Given the description of an element on the screen output the (x, y) to click on. 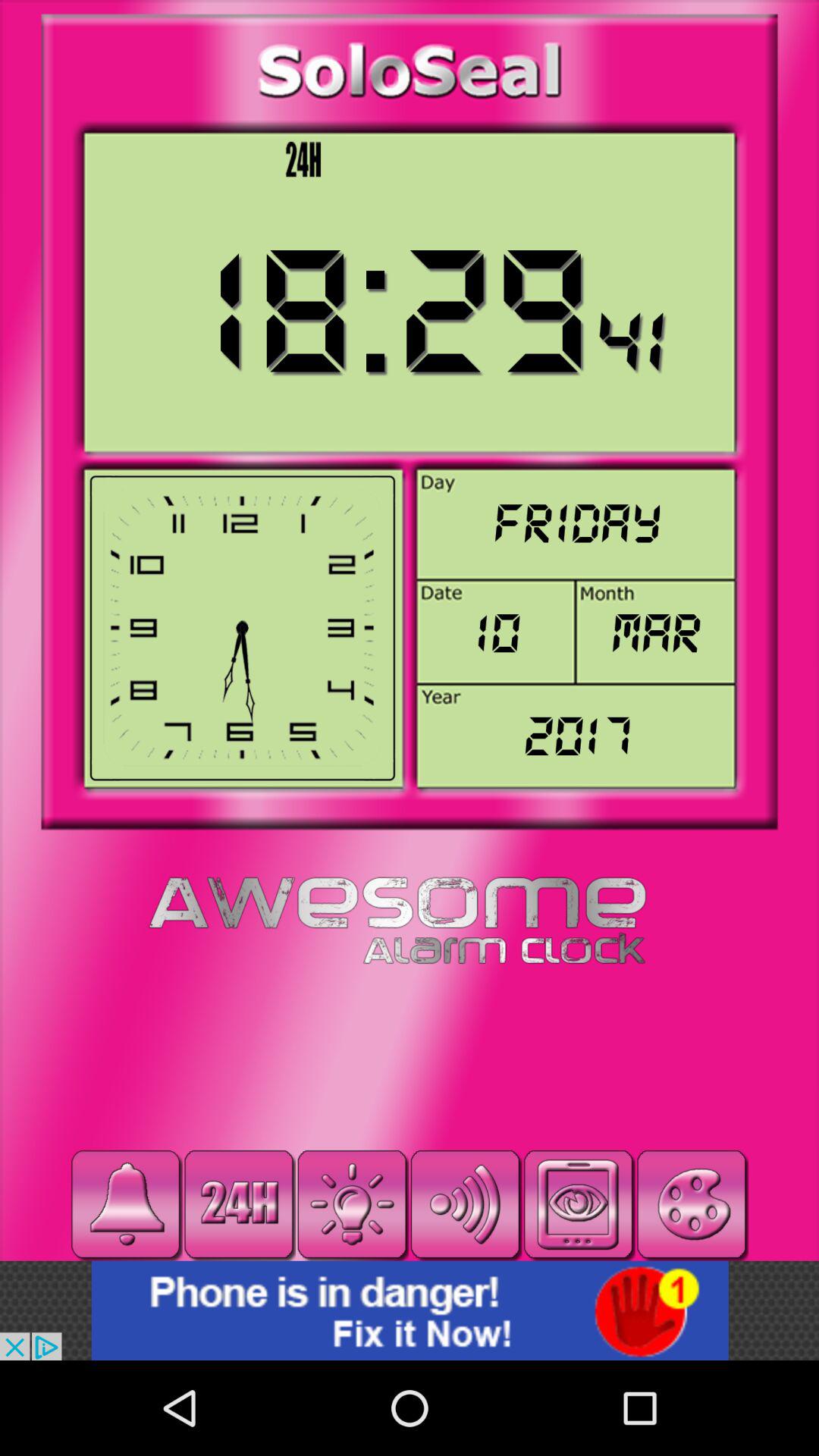
adjust volume (465, 1203)
